Given the description of an element on the screen output the (x, y) to click on. 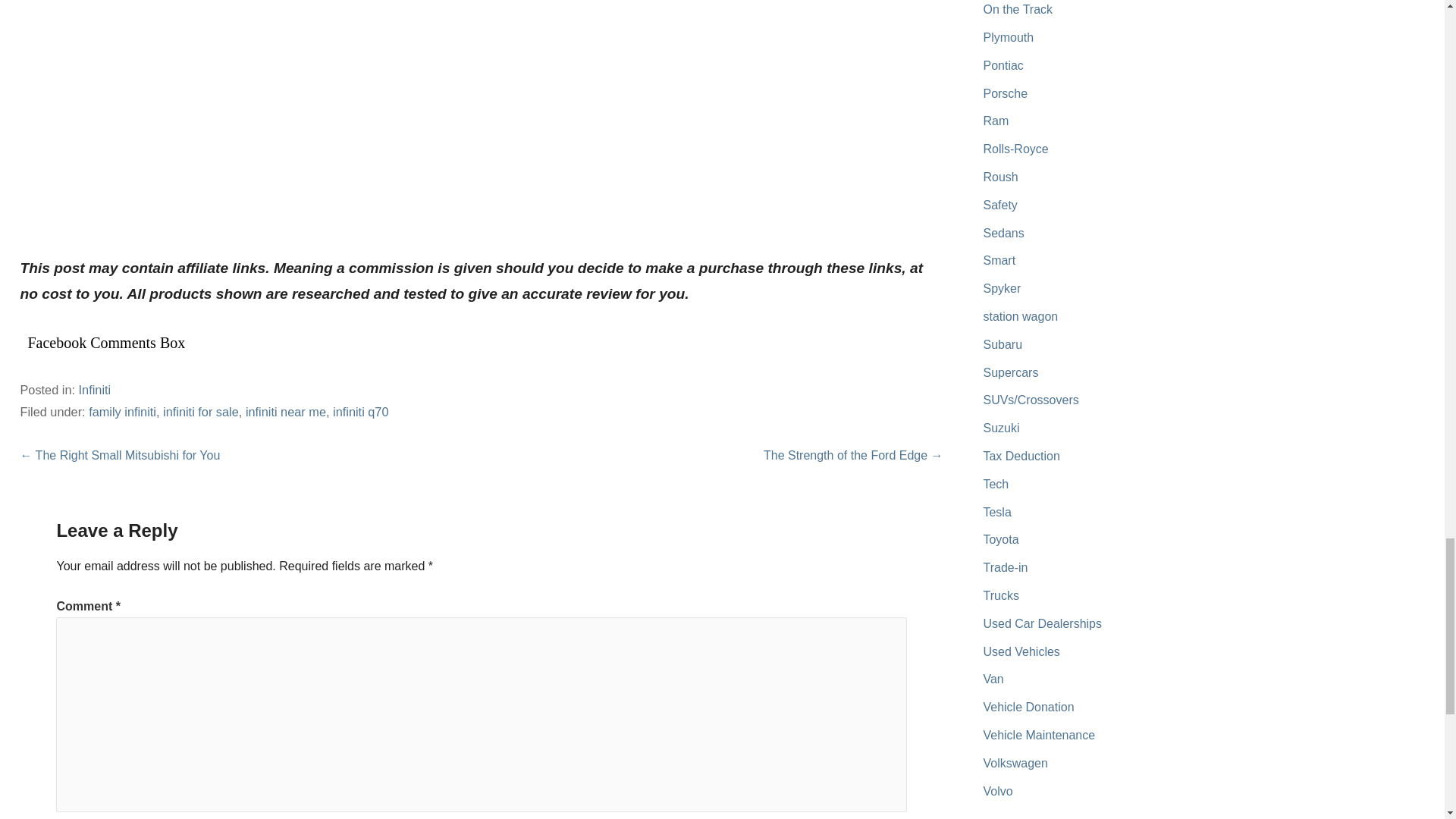
Infiniti (95, 389)
infiniti for sale (200, 411)
infiniti q70 (360, 411)
infiniti near me (286, 411)
family infiniti (121, 411)
